Given the description of an element on the screen output the (x, y) to click on. 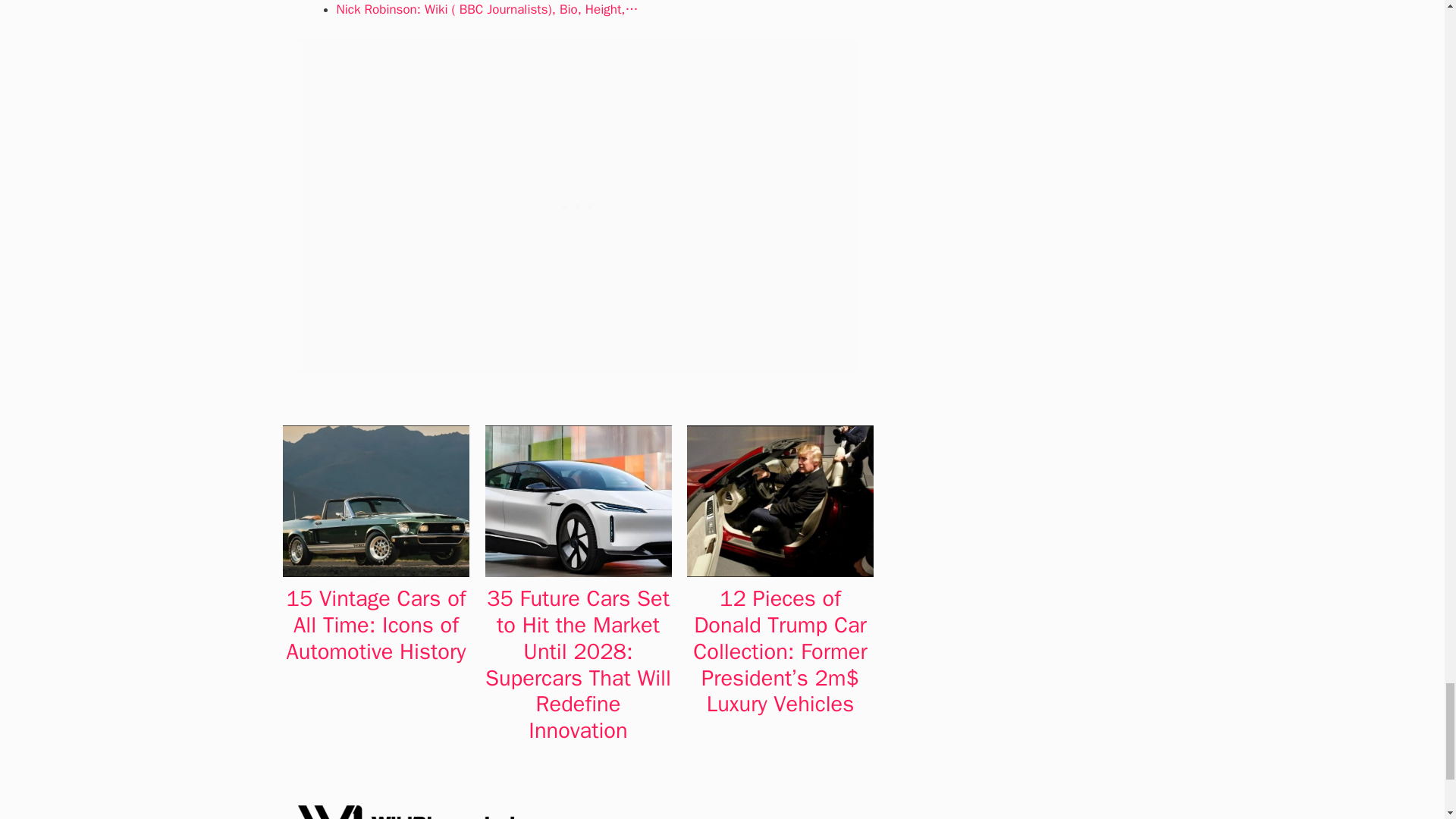
15 Vintage Cars of All Time: Icons of Automotive History (375, 624)
